Given the description of an element on the screen output the (x, y) to click on. 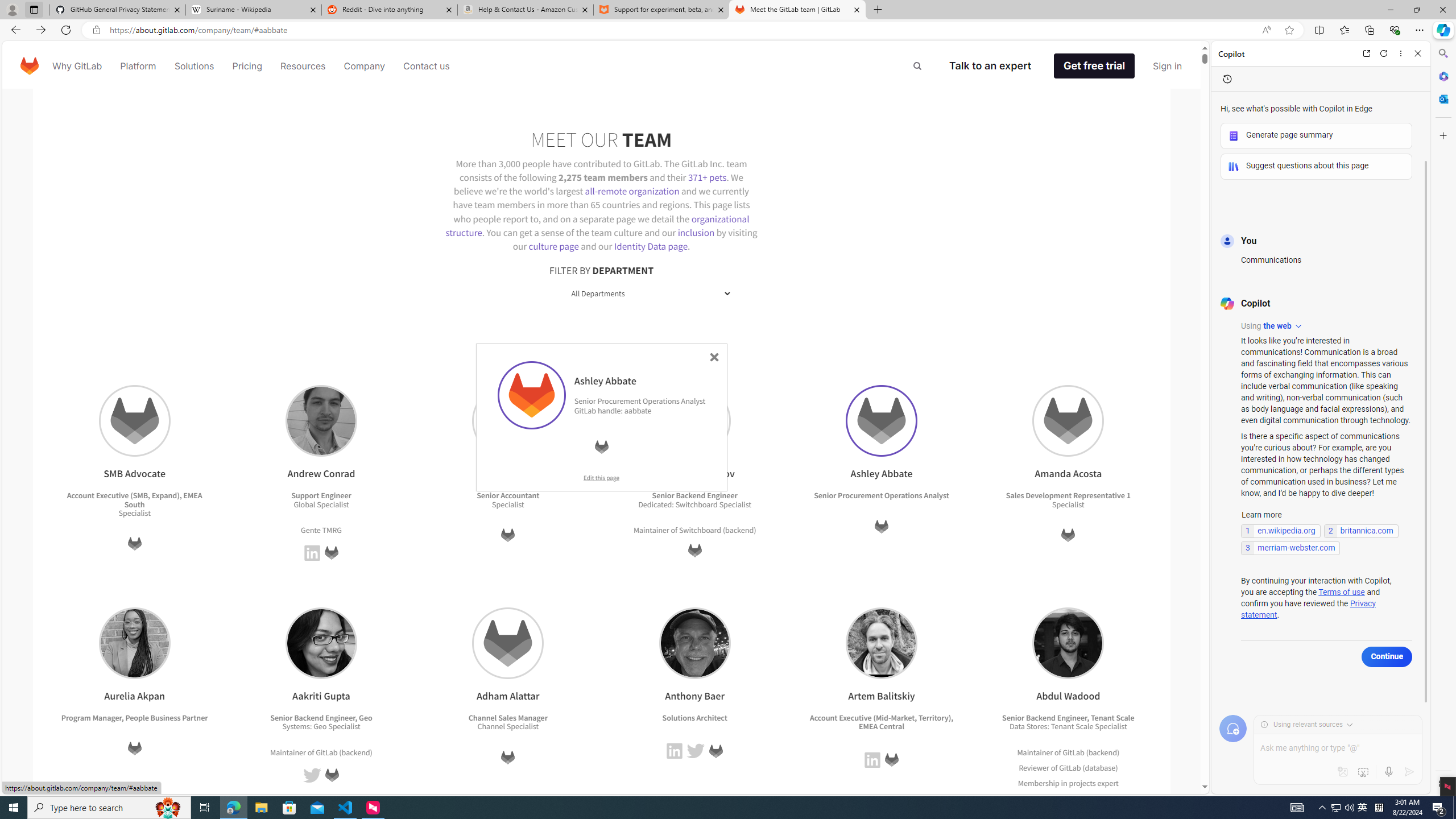
Solutions (193, 65)
Company (364, 65)
Resources (302, 65)
Edit this page (601, 477)
GitLab home page (29, 65)
Membership in projects expert (1067, 782)
Get free trial (1094, 65)
Talk to an expert (990, 65)
Program Manager, People Business Partner (134, 717)
Anthony Baer (695, 642)
organizational structure (597, 225)
